Given the description of an element on the screen output the (x, y) to click on. 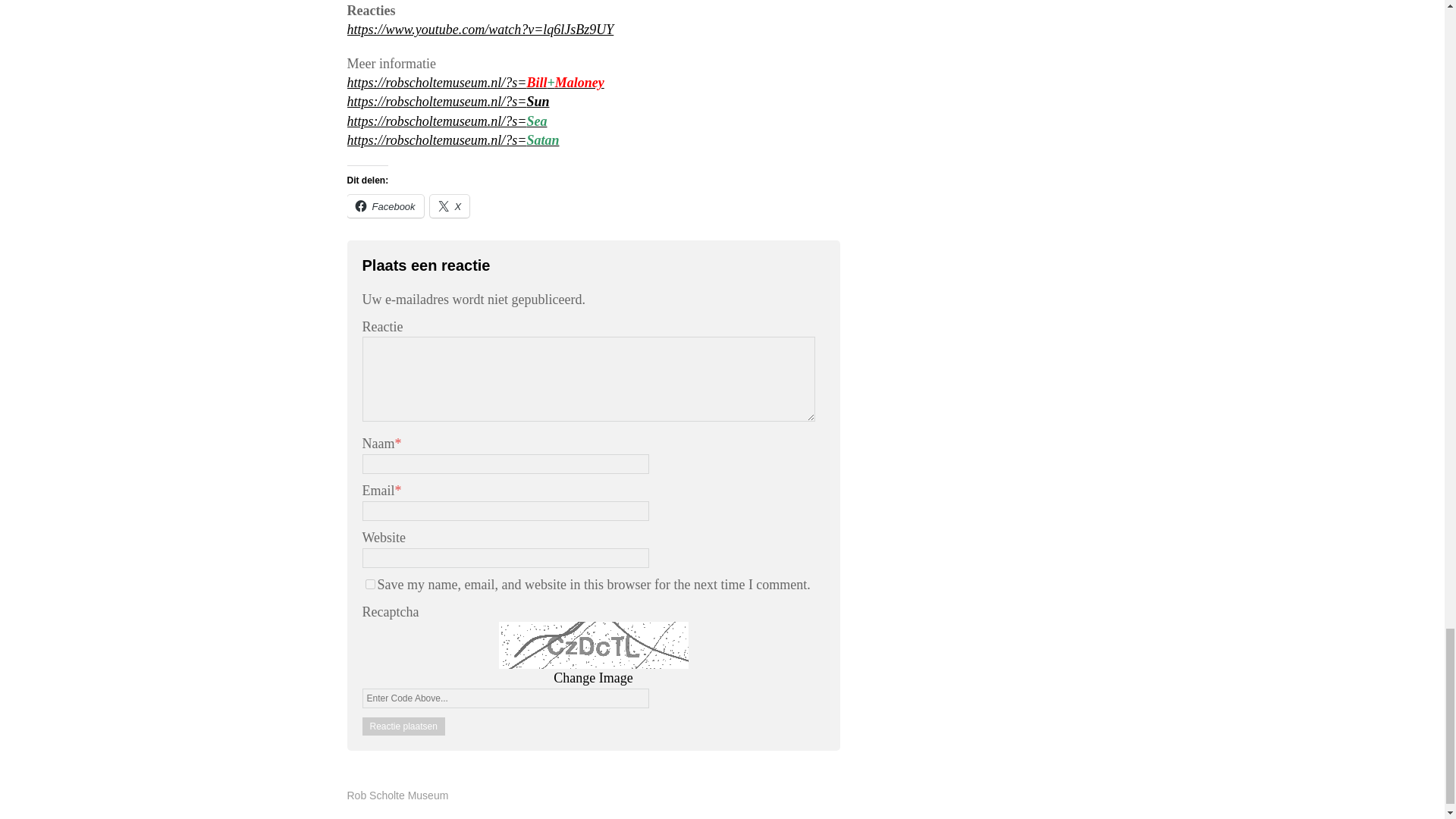
Facebook (385, 205)
Klik om te delen op X (449, 205)
X (449, 205)
yes (370, 583)
Change Image (592, 677)
Klik om te delen op Facebook (385, 205)
Reactie plaatsen (403, 726)
Reactie plaatsen (403, 726)
